Given the description of an element on the screen output the (x, y) to click on. 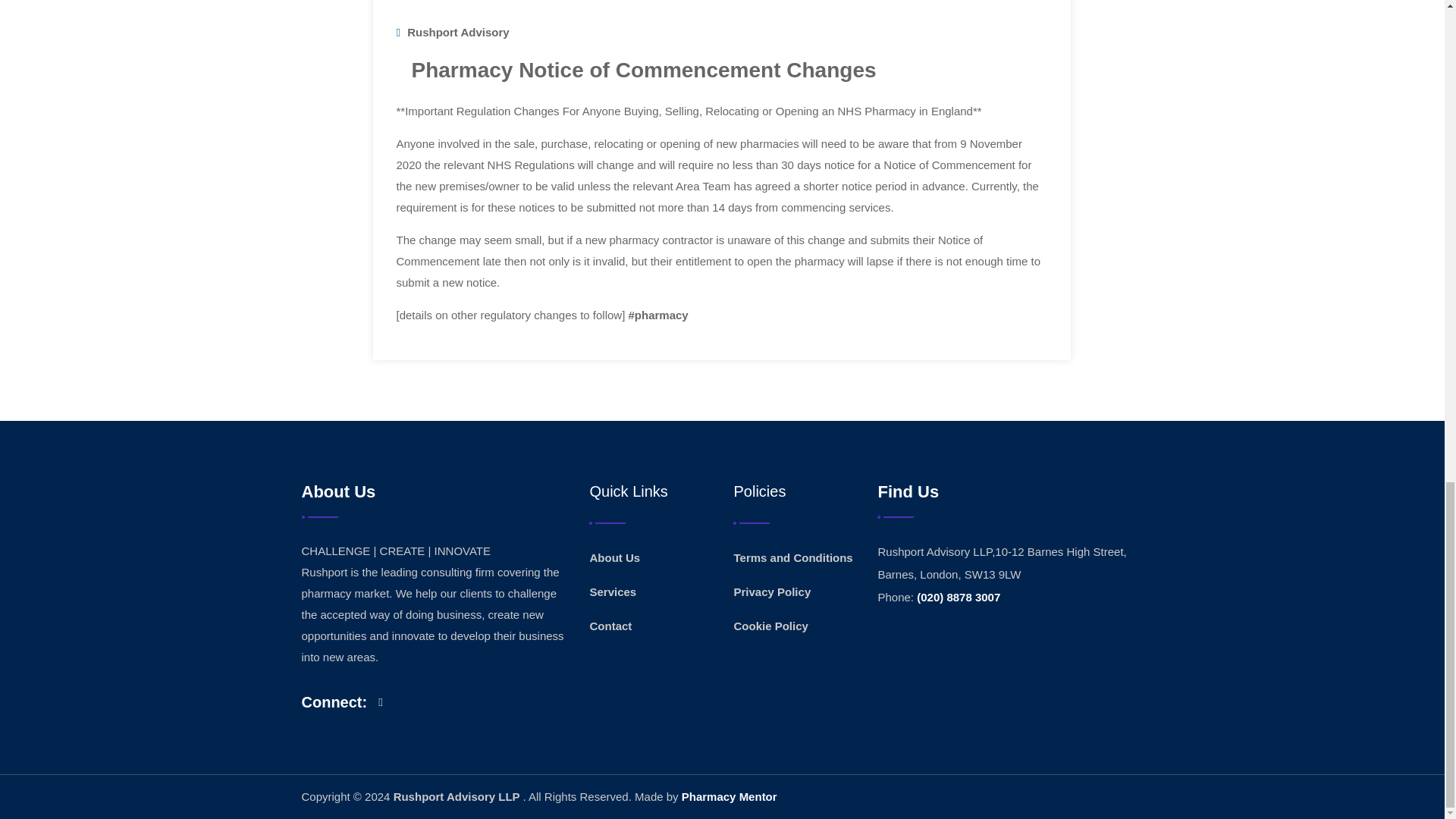
Cookie Policy (770, 626)
Pharmacy Mentor (729, 796)
Services (612, 591)
Terms and Conditions (792, 558)
Privacy Policy (771, 591)
About Us (614, 558)
Contact (610, 626)
